Given the description of an element on the screen output the (x, y) to click on. 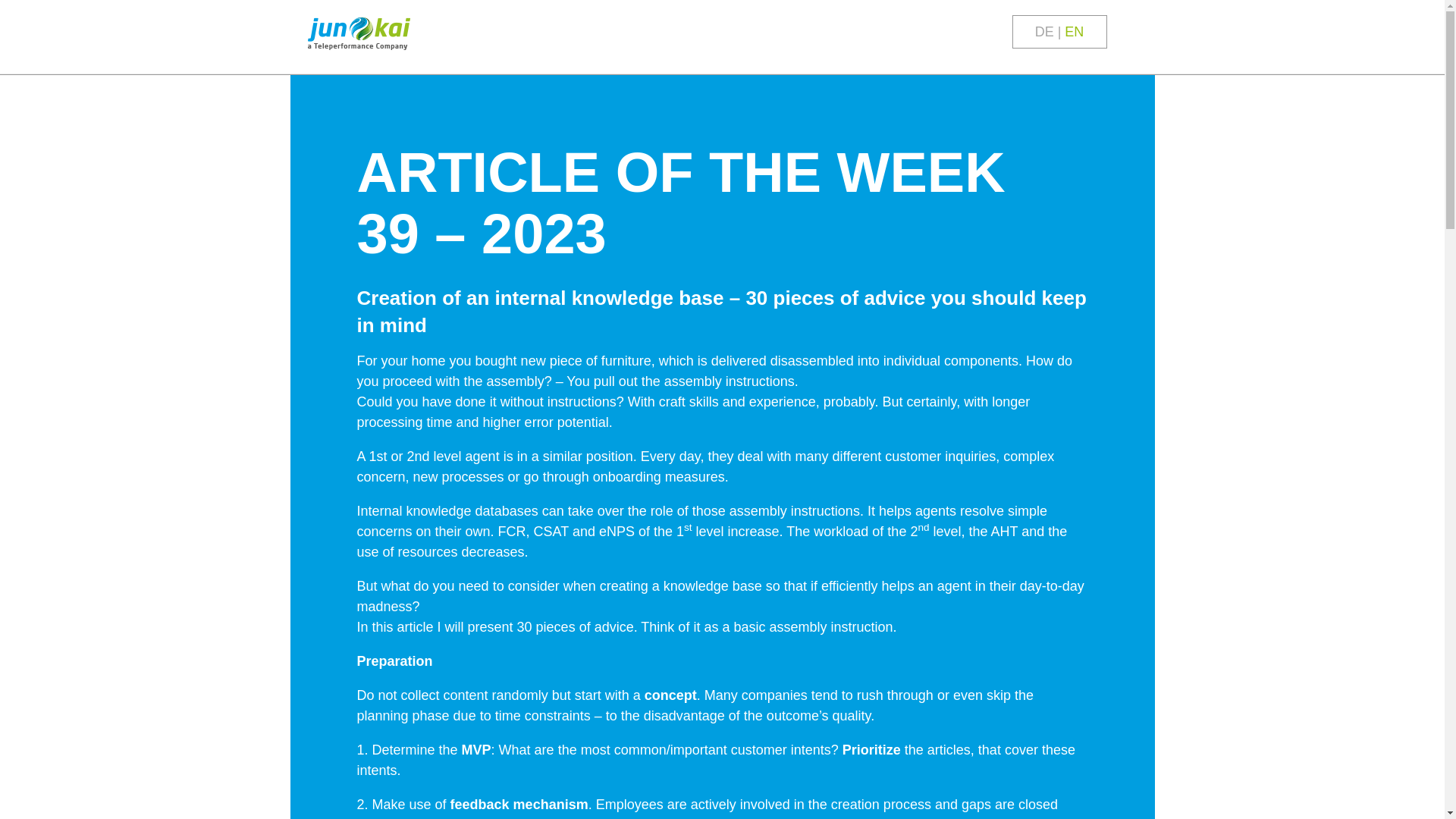
EN (1073, 31)
